Given the description of an element on the screen output the (x, y) to click on. 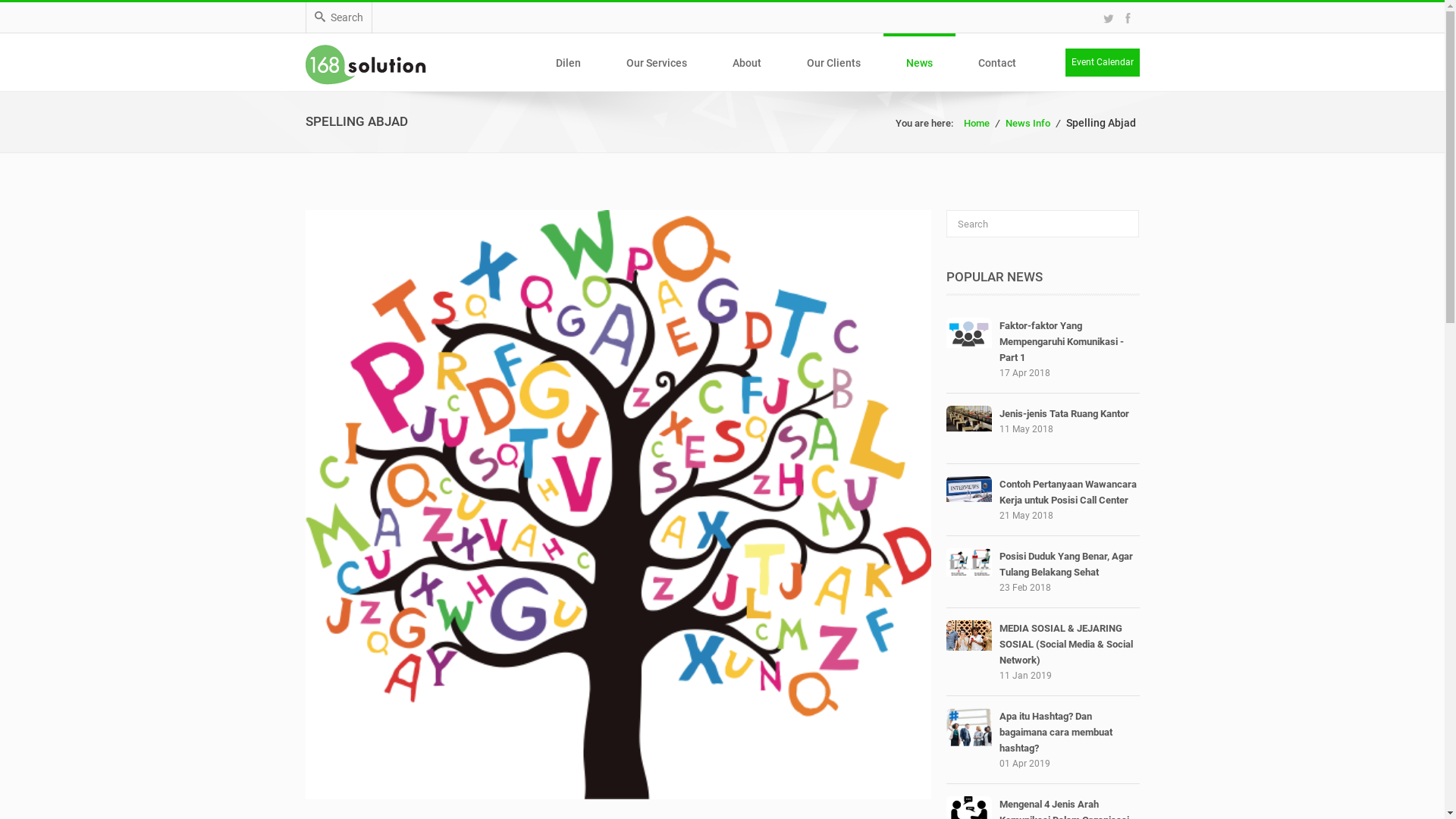
Event Calendar Element type: text (1101, 62)
Dilen Element type: text (567, 62)
Contoh Pertanyaan Wawancara Kerja untuk Posisi Call Center Element type: text (1067, 491)
Contact Element type: text (997, 62)
About Element type: text (746, 62)
Apa itu Hashtag? Dan bagaimana cara membuat hashtag? Element type: text (1055, 731)
News Info Element type: text (1027, 122)
Our Services Element type: text (656, 62)
Search Element type: text (337, 17)
Our Clients Element type: text (833, 62)
Home Element type: text (976, 122)
Faktor-faktor Yang Mempengaruhi Komunikasi - Part 1 Element type: text (1061, 341)
News Element type: text (918, 62)
Jenis-jenis Tata Ruang Kantor Element type: text (1064, 413)
Posisi Duduk Yang Benar, Agar Tulang Belakang Sehat Element type: text (1065, 563)
